Given the description of an element on the screen output the (x, y) to click on. 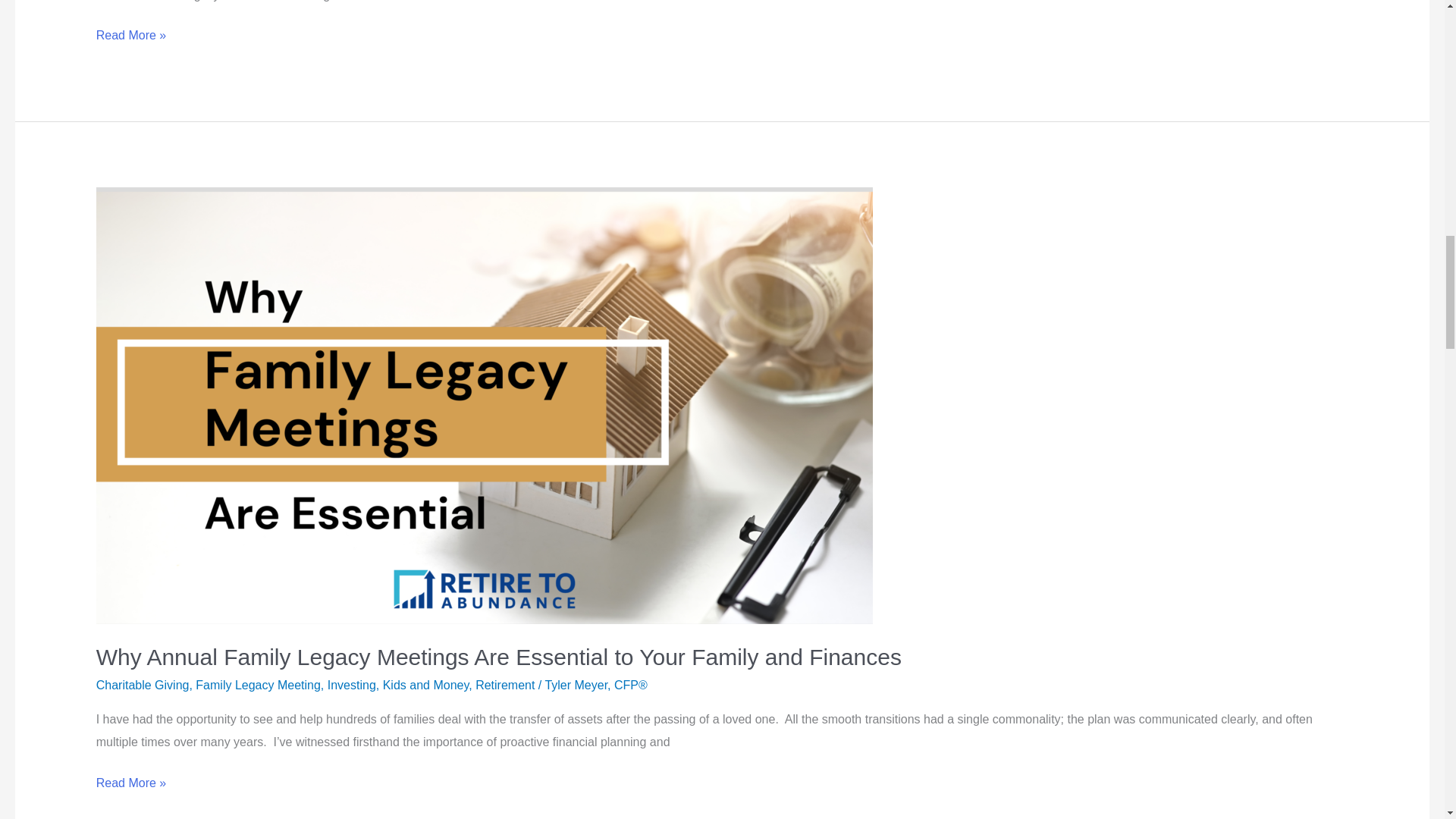
Family Legacy Meeting (257, 684)
Retirement (505, 684)
Kids and Money (425, 684)
Investing (351, 684)
Charitable Giving (142, 684)
